Given the description of an element on the screen output the (x, y) to click on. 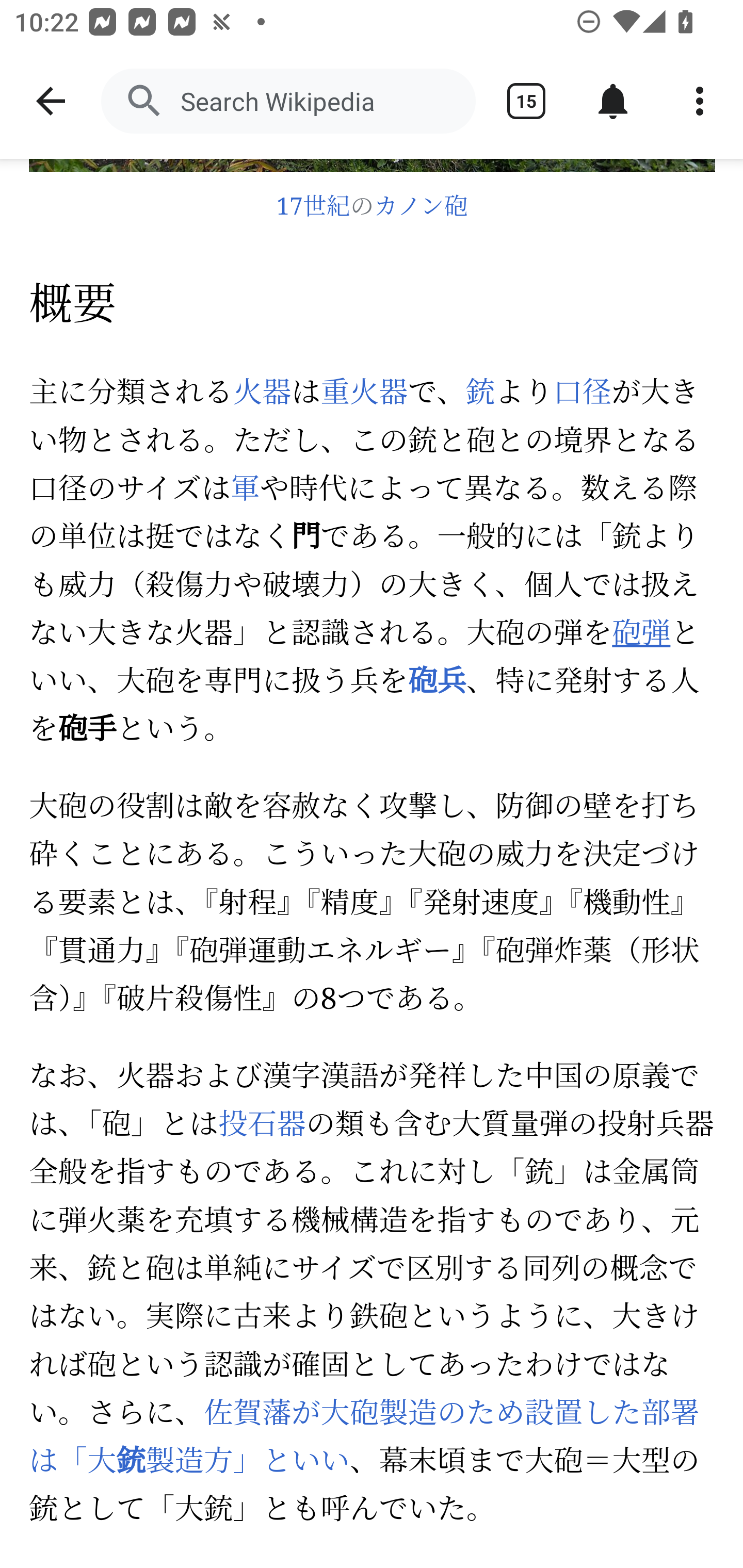
Show tabs 15 (525, 100)
Notifications (612, 100)
Navigate up (50, 101)
More options (699, 101)
Search Wikipedia (288, 100)
17世紀 (313, 208)
カノン砲 (420, 208)
火器 (261, 392)
重火器 (364, 392)
銃 (479, 392)
口径 (582, 392)
軍 (244, 491)
砲弾 (640, 635)
砲兵 (436, 683)
投石器 (261, 1126)
